Given the description of an element on the screen output the (x, y) to click on. 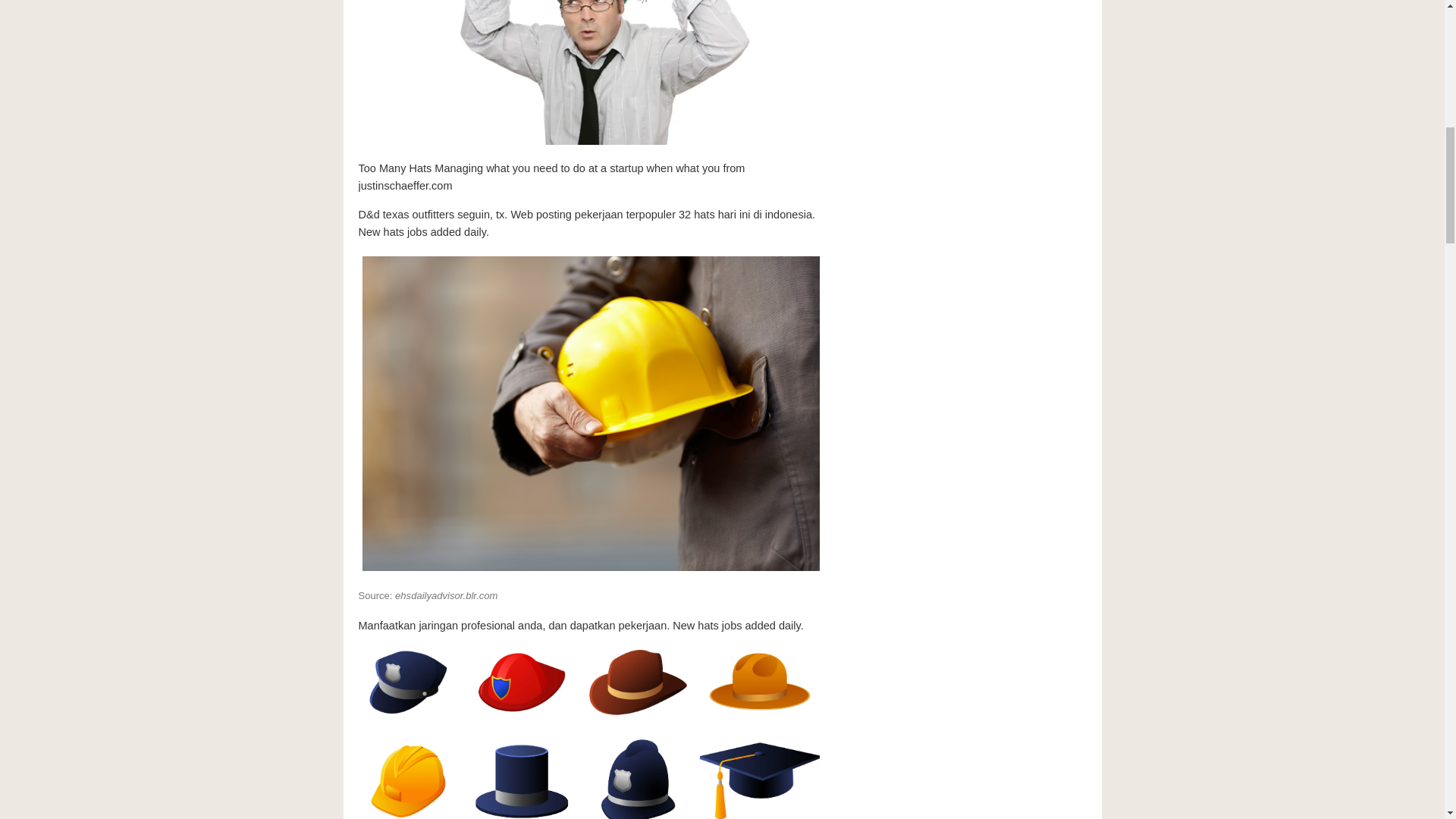
Incredible Hats Jobs Ideas 2 (590, 74)
Incredible Hats Jobs Ideas 4 (590, 732)
